Given the description of an element on the screen output the (x, y) to click on. 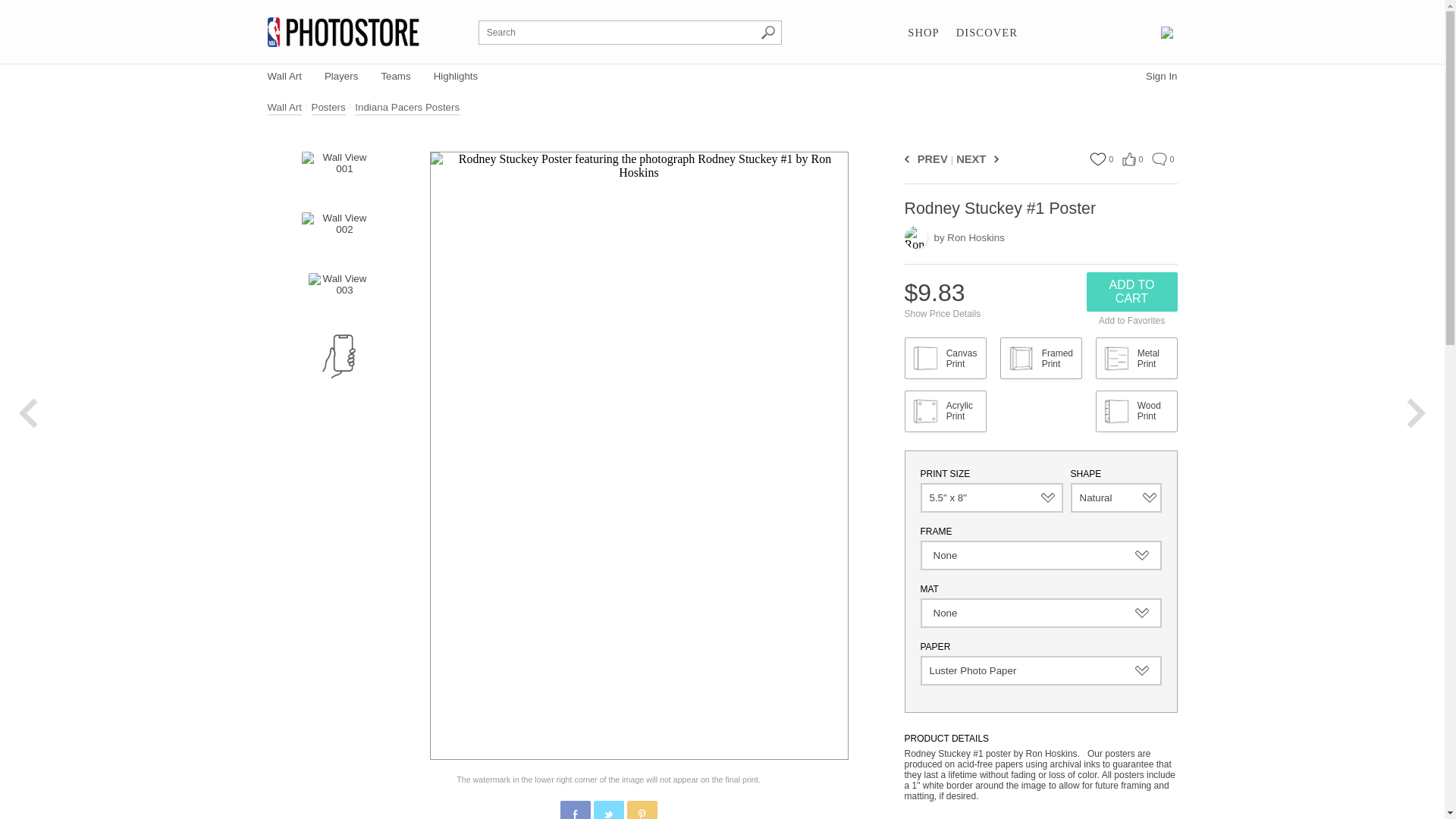
Twitter (609, 814)
Wall View 003 (337, 295)
Wall View 002 (337, 234)
Launch Mobile App (338, 356)
Search (767, 32)
NBA Photo Store (342, 31)
Wall View 001 (337, 174)
Favorite (1097, 159)
Pinterest (642, 814)
Comment (1158, 159)
SHOP (922, 32)
Share Product on Pinterest (641, 809)
Share Product on Twitter (607, 809)
Share Product on Facebook (574, 809)
Facebook (575, 814)
